Given the description of an element on the screen output the (x, y) to click on. 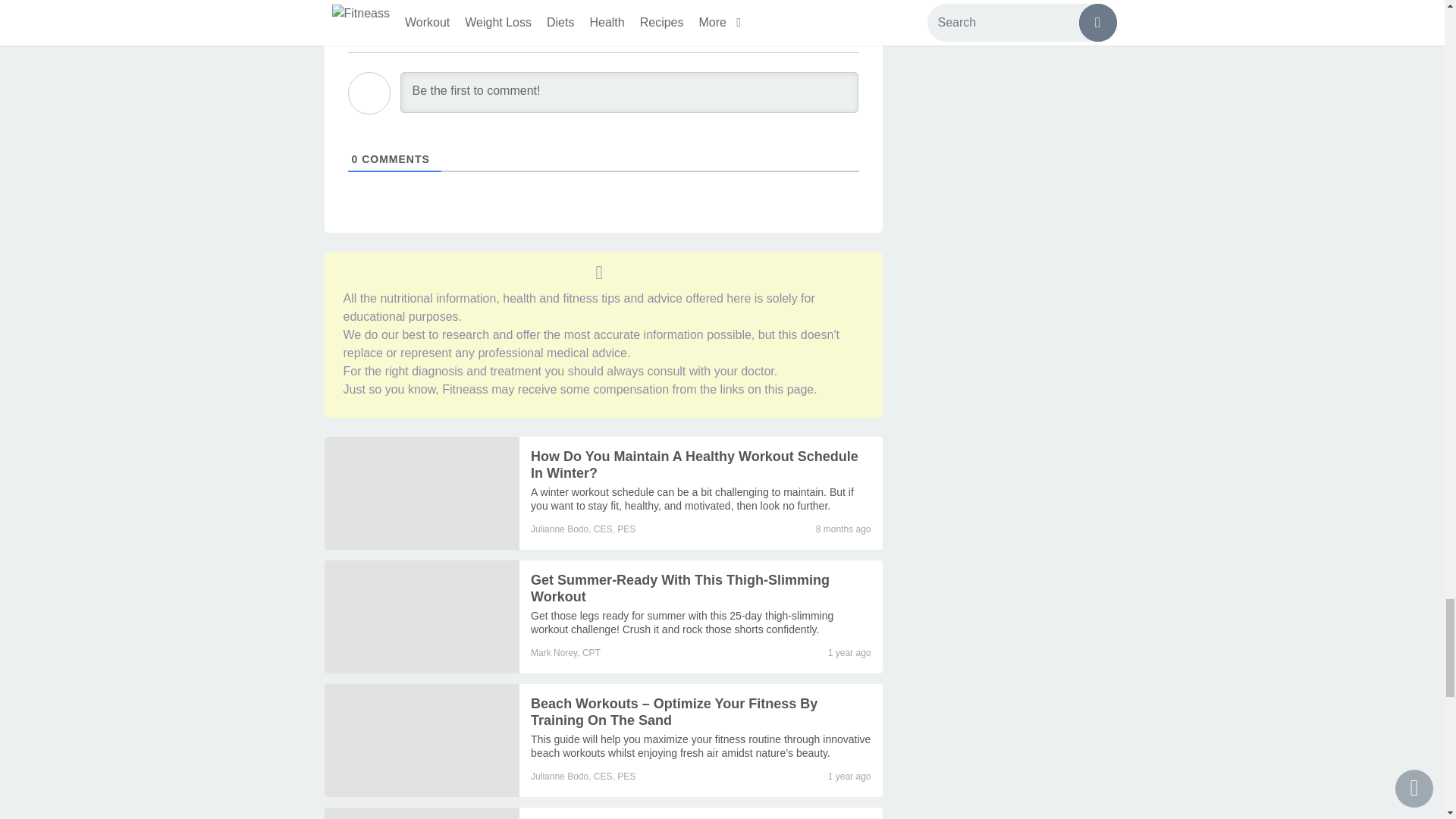
10 Best Bodyweight Exercises For Arms And Shoulders (421, 813)
How Do You Maintain a Healthy Workout Schedule in Winter? (695, 464)
Get Summer-Ready With This Thigh-Slimming Workout (421, 616)
Get Summer-Ready With This Thigh-Slimming Workout (681, 622)
How Do You Maintain a Healthy Workout Schedule in Winter? (692, 498)
Get Summer-Ready With This Thigh-Slimming Workout (680, 588)
How Do You Maintain a Healthy Workout Schedule in Winter? (421, 492)
